Given the description of an element on the screen output the (x, y) to click on. 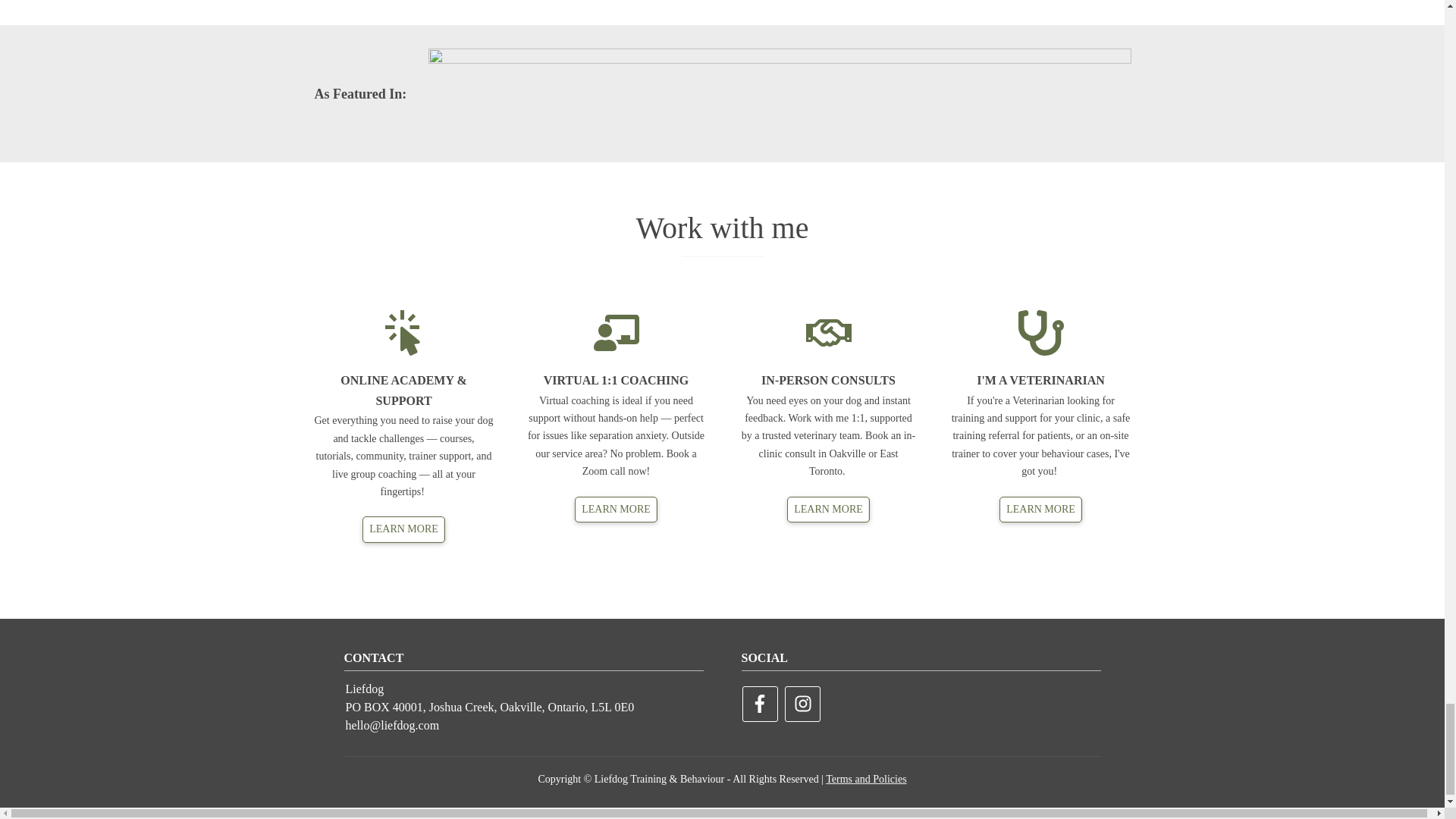
LEARN MORE (828, 509)
LEARN MORE (616, 509)
LEARN MORE (1039, 509)
LEARN MORE (403, 529)
Terms and Policies (865, 778)
